Given the description of an element on the screen output the (x, y) to click on. 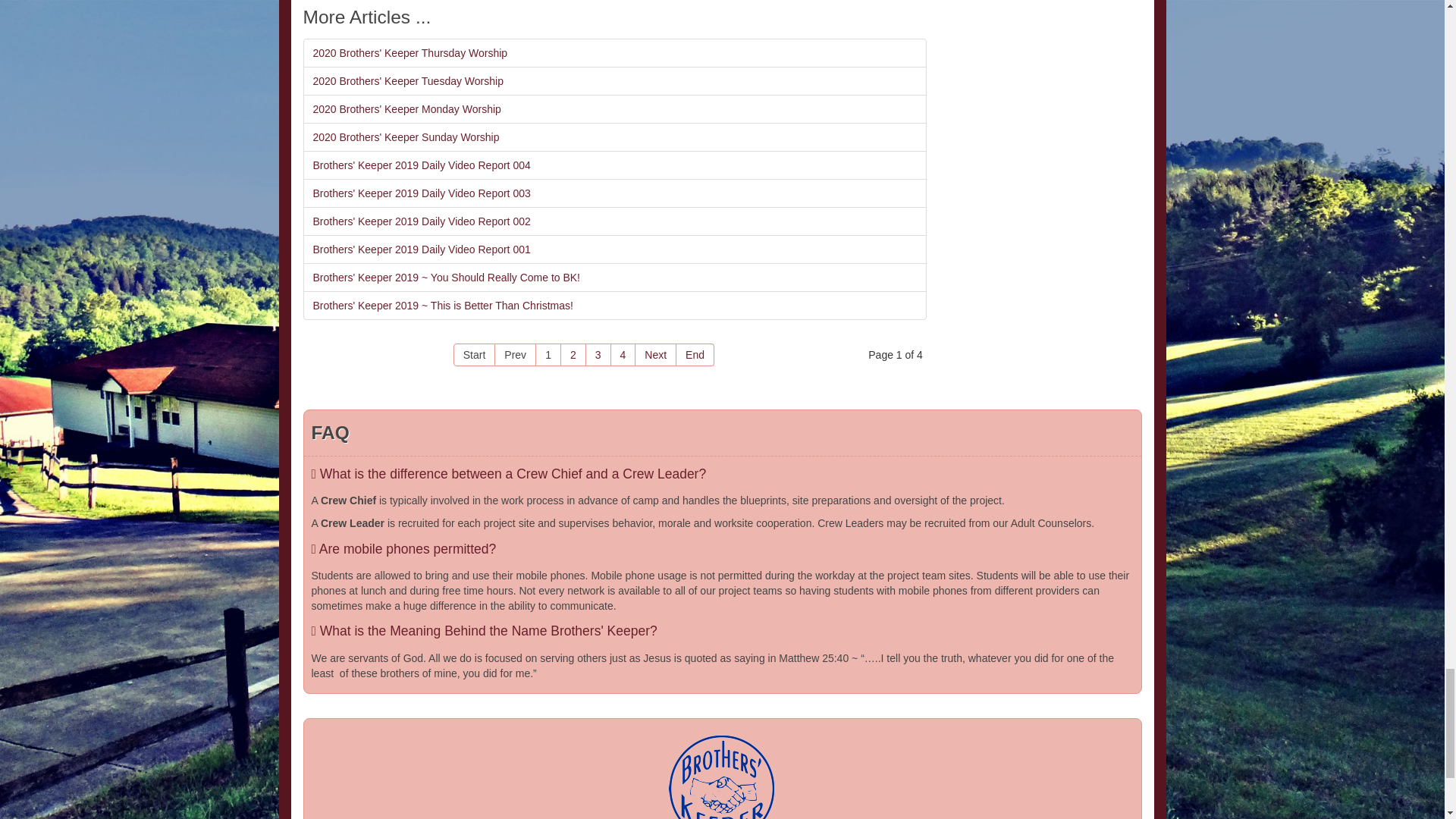
End (695, 354)
2020 Brothers' Keeper Tuesday Worship (614, 80)
2 (573, 354)
Brothers' Keeper 2019 Daily Video Report 002 (614, 221)
4 (623, 354)
2020 Brothers' Keeper Monday Worship (614, 109)
Brothers' Keeper 2019 Daily Video Report 004 (614, 164)
Brothers' Keeper 2019 Daily Video Report 001 (614, 249)
Brothers' Keeper 2019 Daily Video Report 003 (614, 193)
3 (598, 354)
Next (655, 354)
2020 Brothers' Keeper Sunday Worship (614, 136)
2020 Brothers' Keeper Thursday Worship (614, 52)
